Given the description of an element on the screen output the (x, y) to click on. 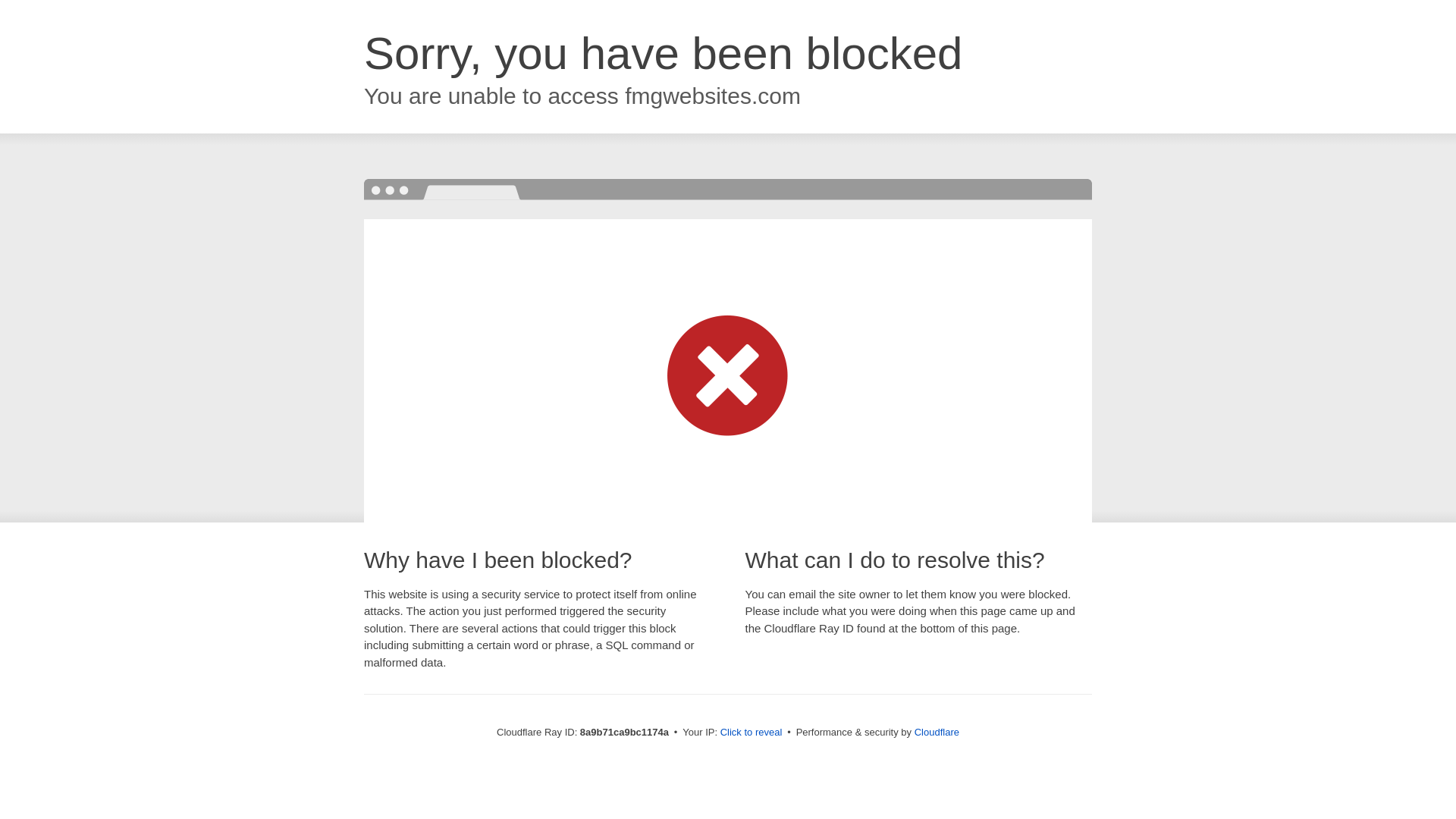
Cloudflare (936, 731)
Click to reveal (751, 732)
